Given the description of an element on the screen output the (x, y) to click on. 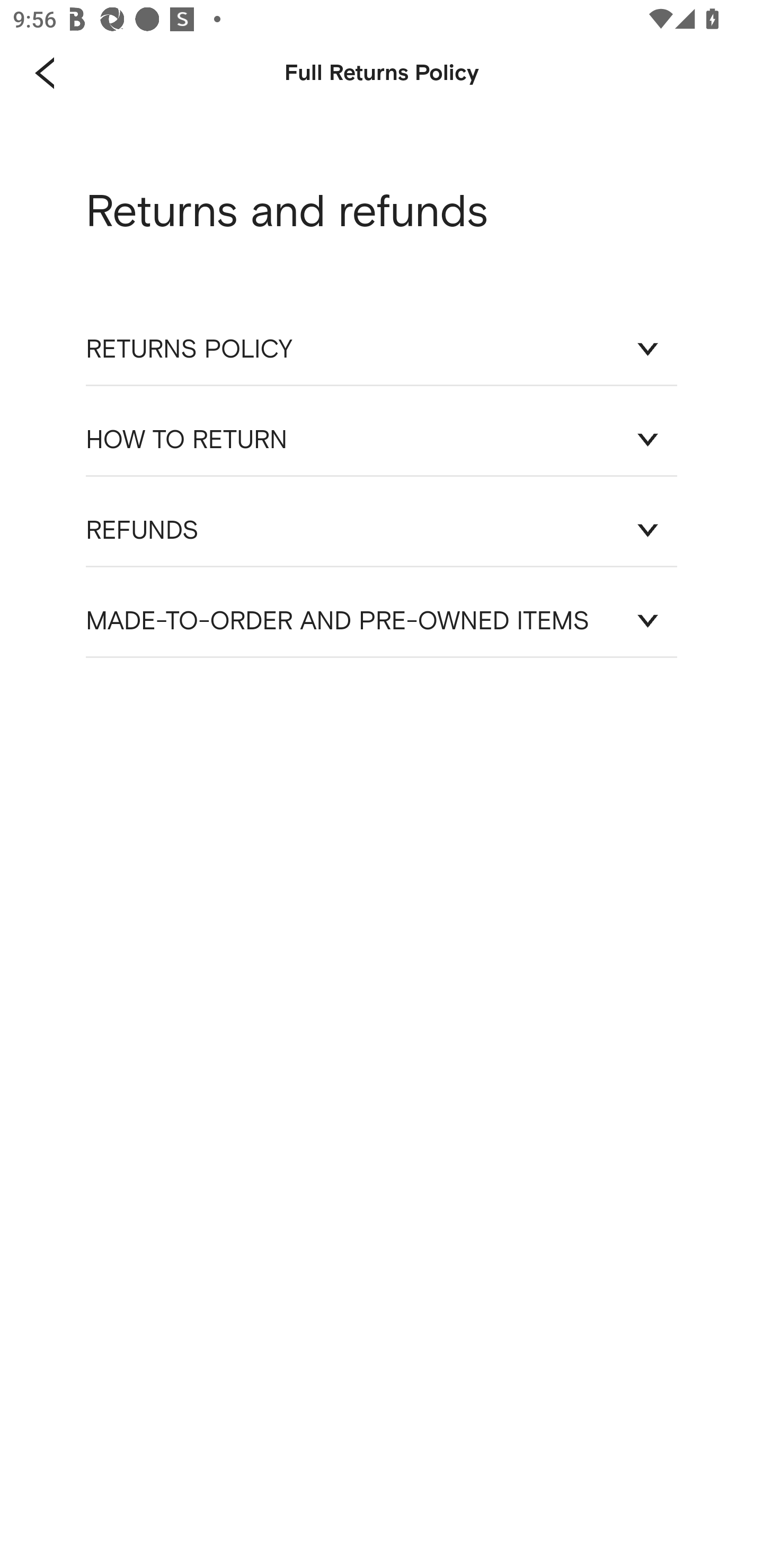
RETURNS POLICY (381, 348)
HOW TO RETURN (381, 438)
REFUNDS (381, 529)
MADE-TO-ORDER AND PRE-OWNED ITEMS (381, 620)
